Given the description of an element on the screen output the (x, y) to click on. 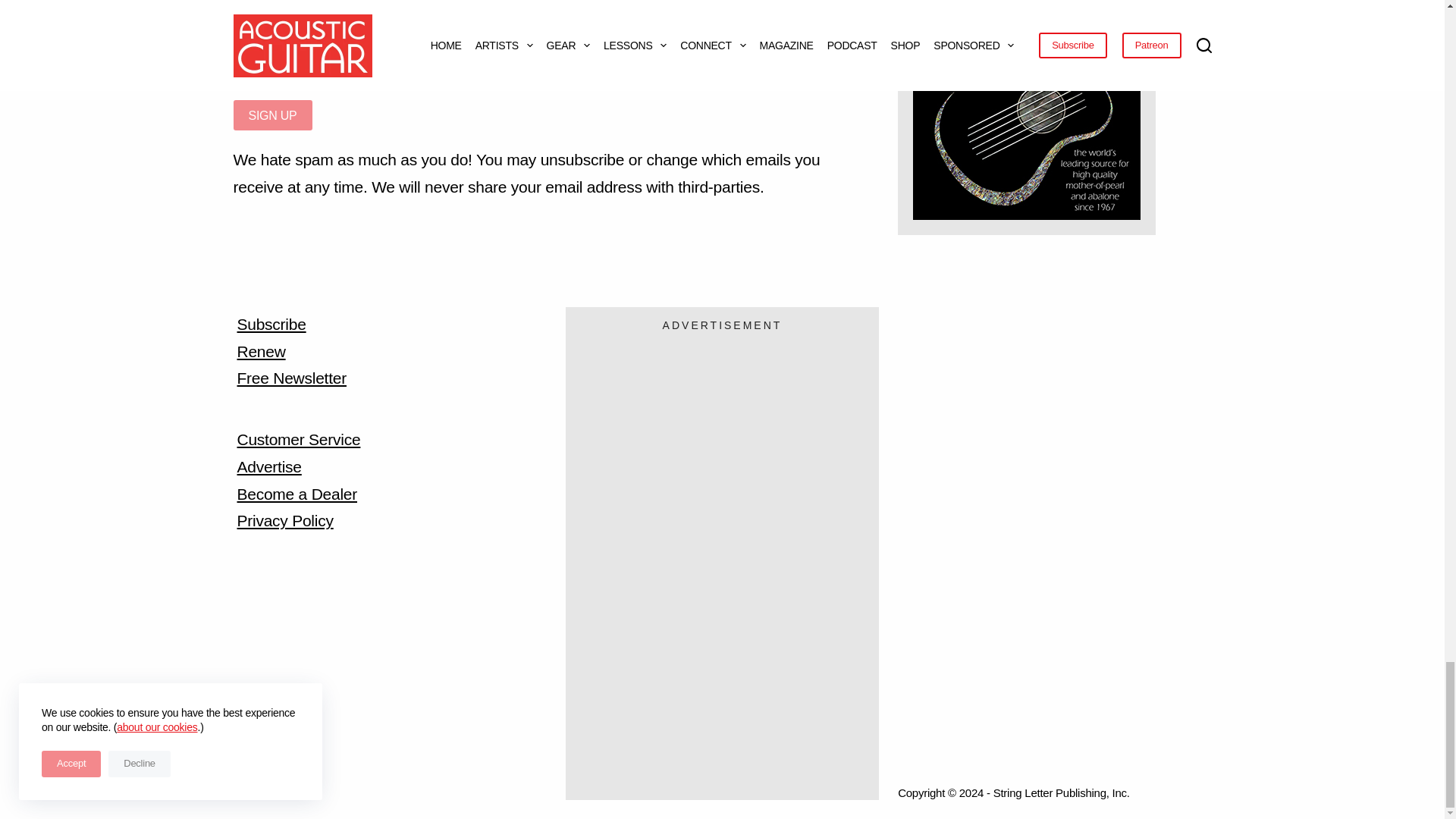
your email address (546, 69)
Advertisement: Duke of Pearl (1026, 125)
